Given the description of an element on the screen output the (x, y) to click on. 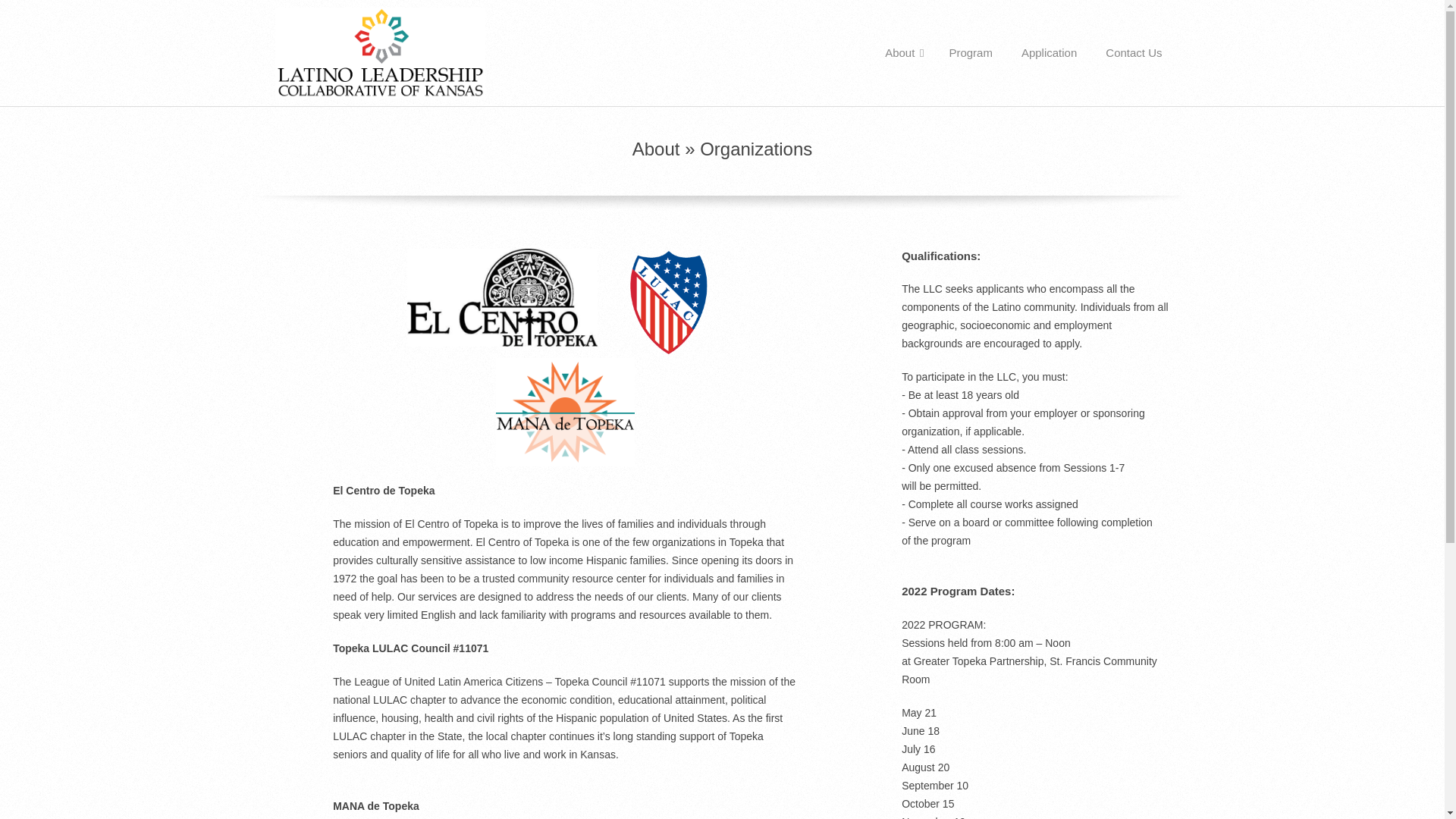
Application (1048, 52)
Contact Us (1133, 52)
Program (970, 52)
About (902, 52)
Skip to content (34, 9)
